Given the description of an element on the screen output the (x, y) to click on. 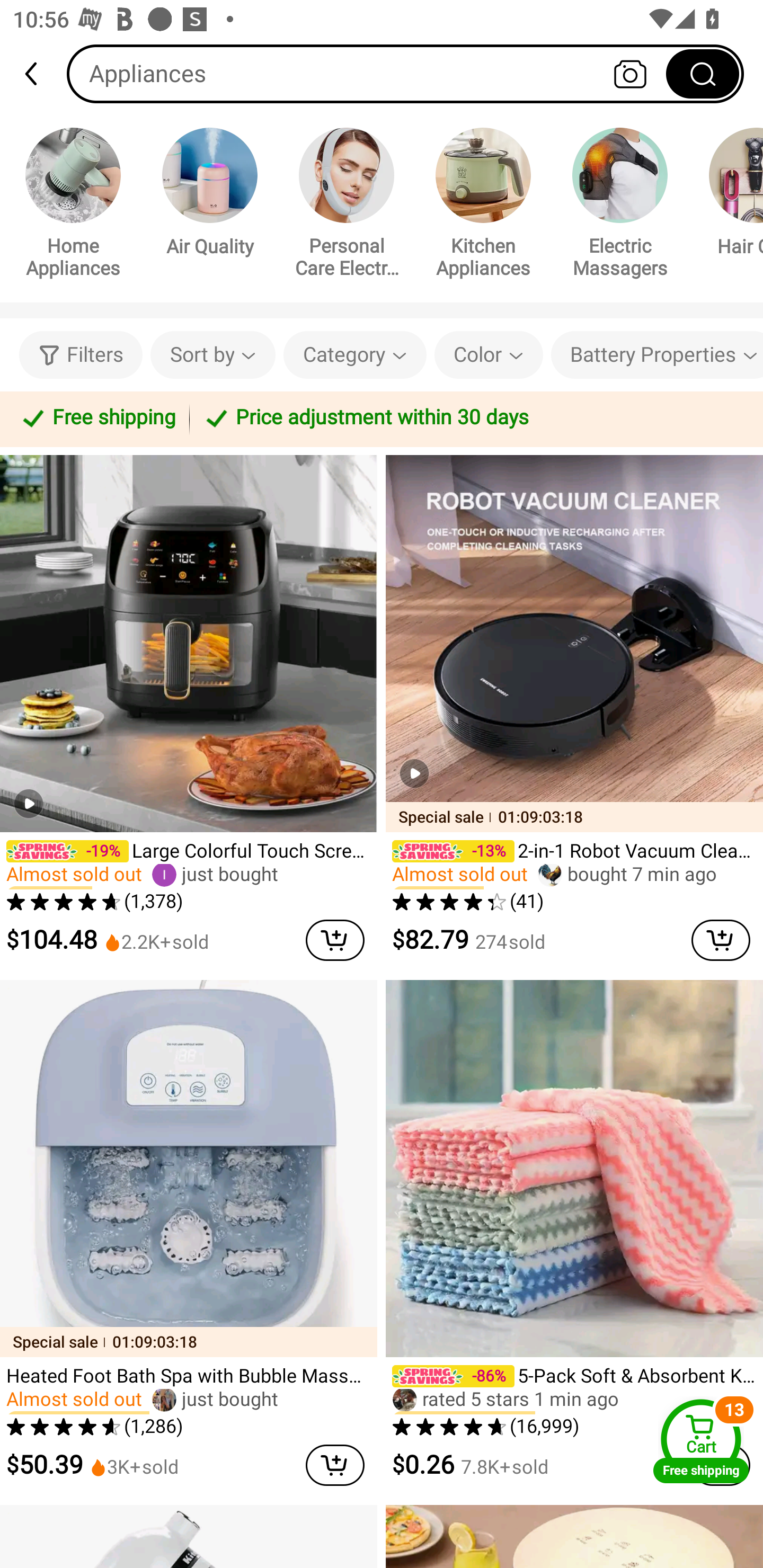
back (39, 73)
Appliances (405, 73)
Home Appliances (73, 205)
Air Quality (209, 195)
Personal Care Electronics (346, 205)
Kitchen Appliances (483, 205)
Electric Massagers (619, 205)
Hair Care (728, 195)
Filters (80, 354)
Sort by (212, 354)
Category (354, 354)
Color (488, 354)
Battery Properties (656, 354)
Free shipping (97, 418)
Price adjustment within 30 days (472, 418)
cart delete (334, 939)
cart delete (720, 939)
Cart Free shipping Cart (701, 1440)
cart delete (334, 1465)
